Given the description of an element on the screen output the (x, y) to click on. 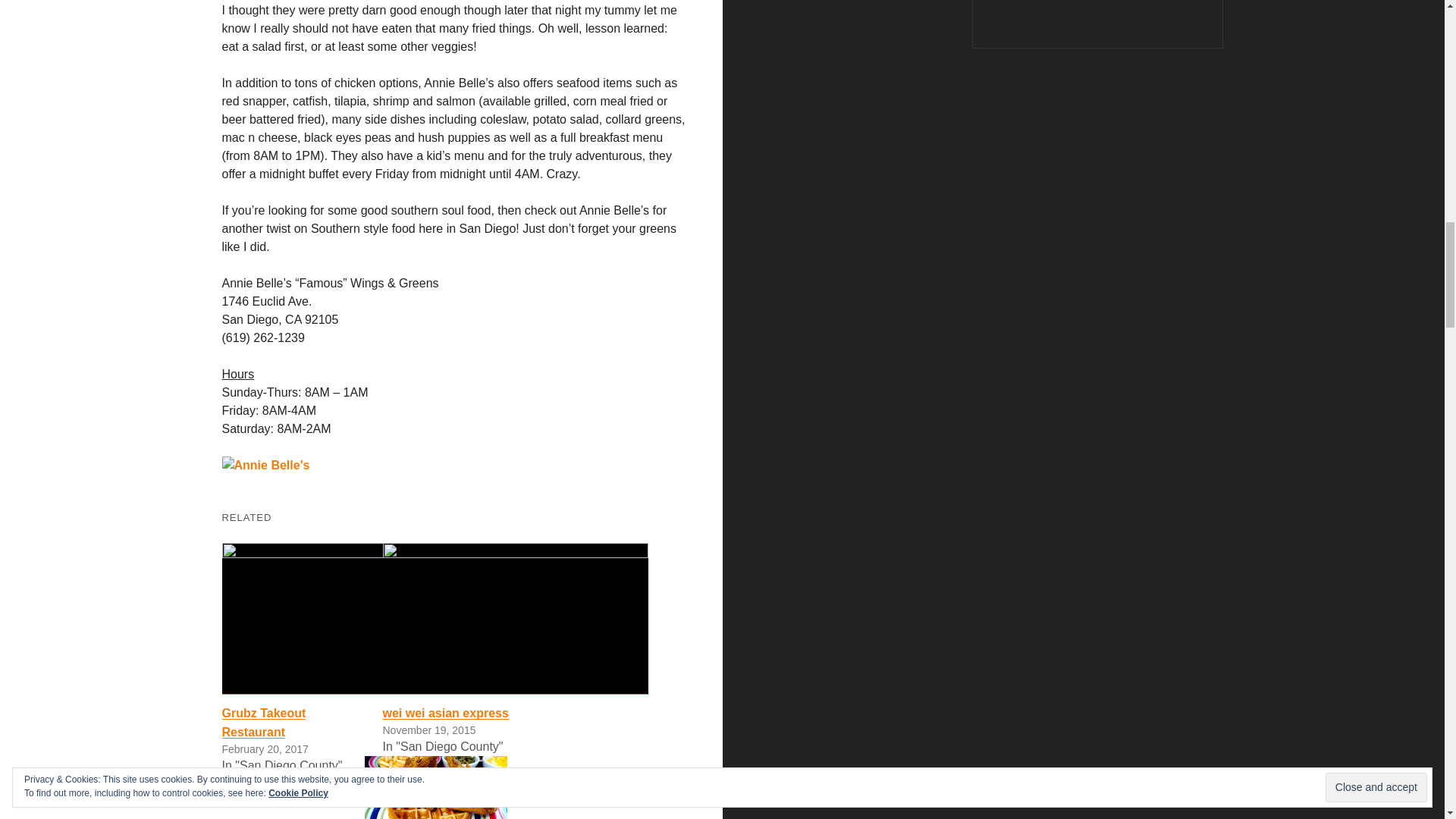
Grubz Takeout Restaurant (353, 618)
wei wei asian express (444, 712)
wei wei asian express (444, 712)
Grubz Takeout Restaurant (263, 722)
Grubz Takeout Restaurant (263, 722)
wei wei asian express (514, 618)
